Given the description of an element on the screen output the (x, y) to click on. 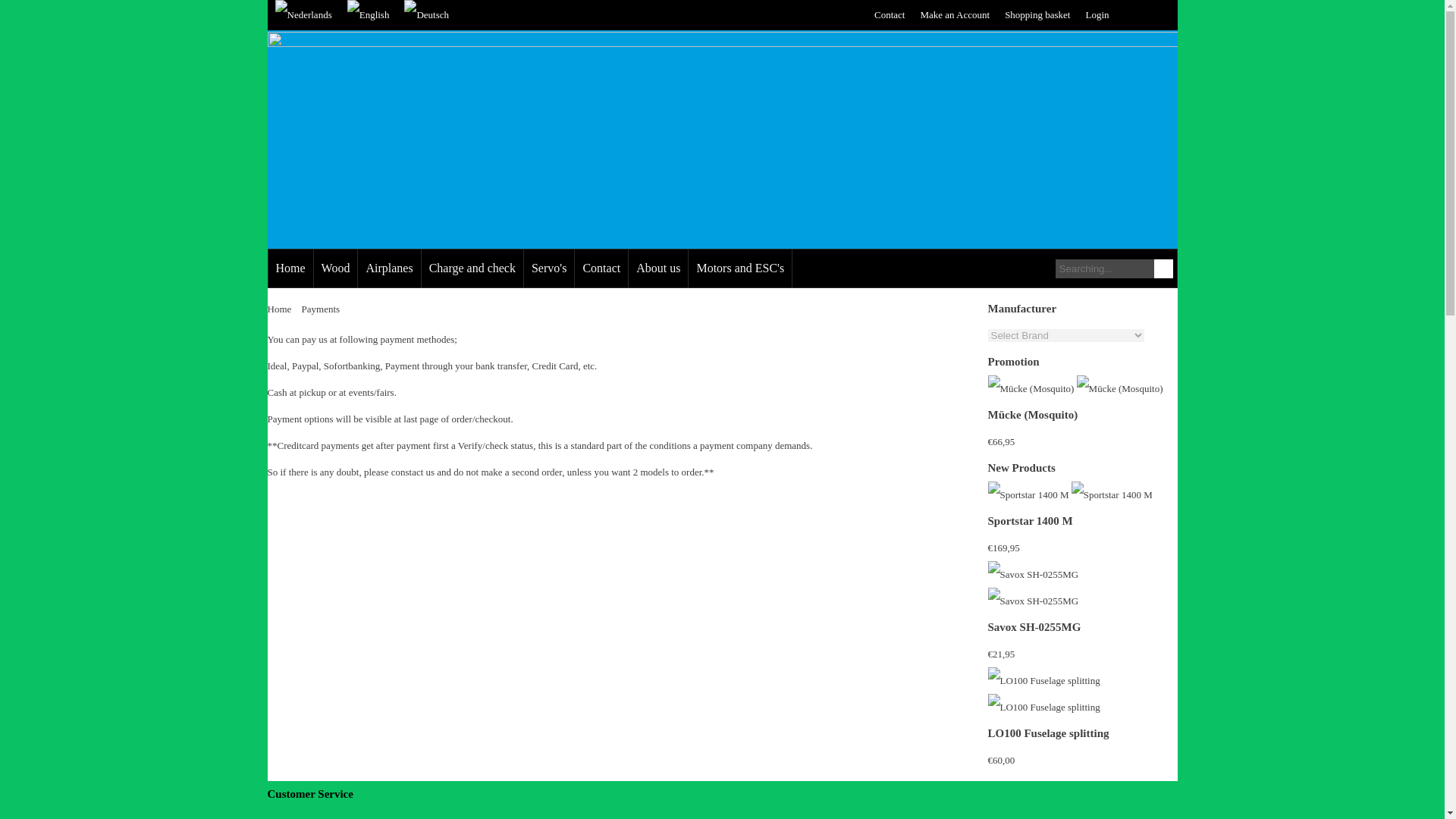
Airplanes (388, 268)
English (368, 14)
Deutsch (426, 14)
Nederlands (303, 14)
Charge and check (472, 268)
